Given the description of an element on the screen output the (x, y) to click on. 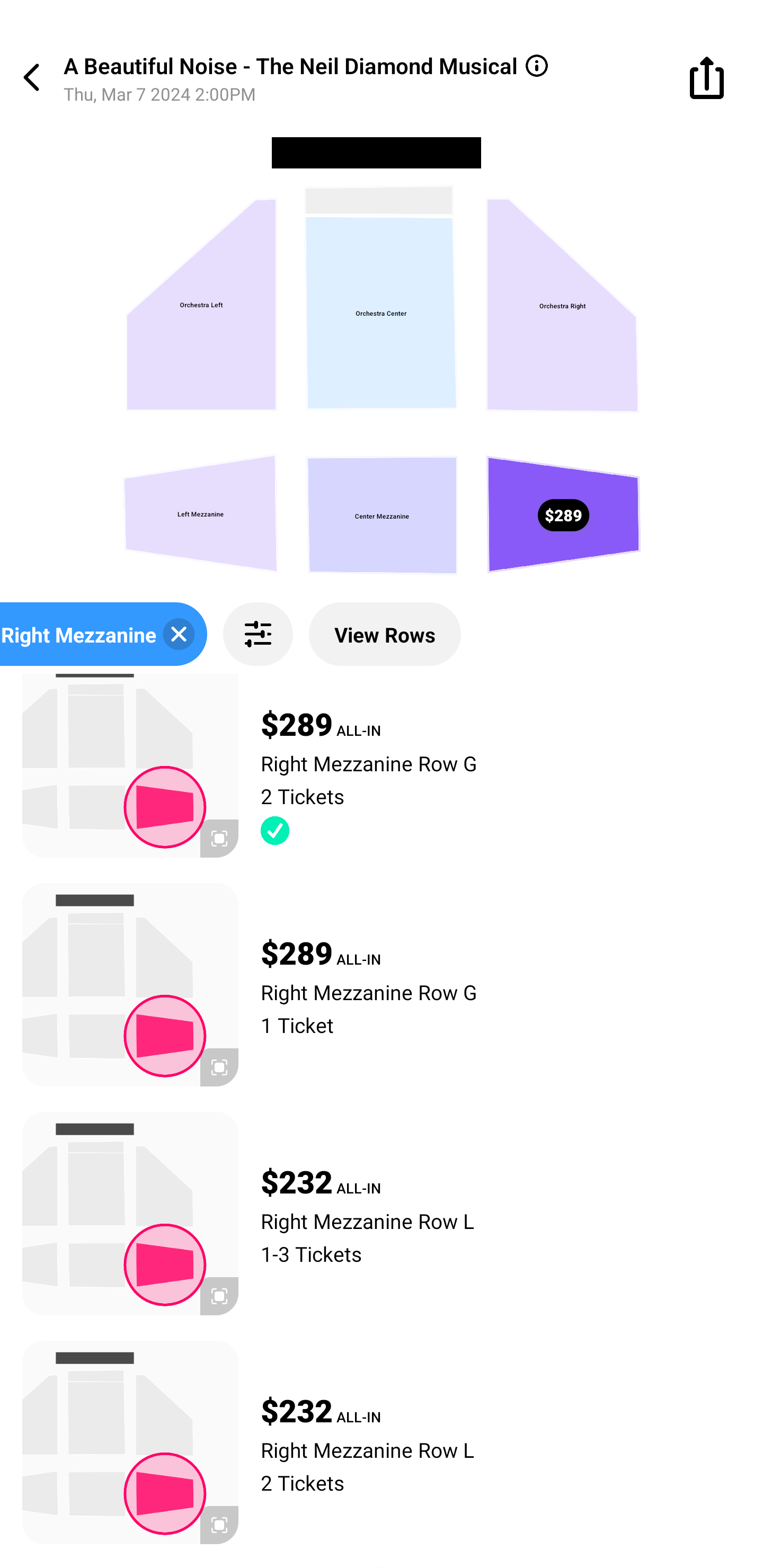
Section Right Mezzanine (103, 634)
View Rows (384, 634)
